Given the description of an element on the screen output the (x, y) to click on. 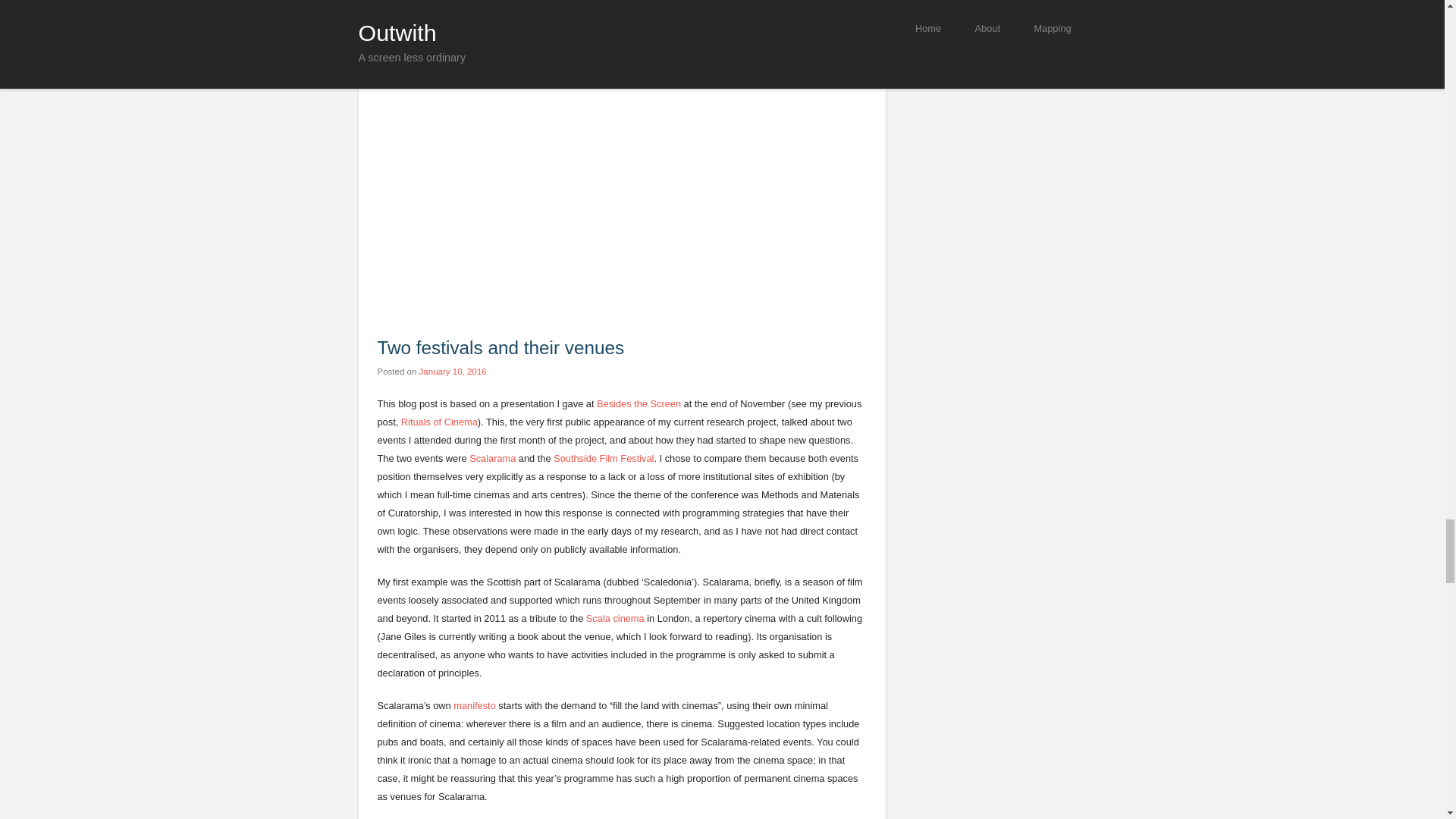
January 10, 2016 (452, 370)
manifesto (473, 705)
11:43 pm (452, 370)
spaces (391, 3)
Scalarama (491, 458)
Rituals of Cinema (439, 421)
Besides the Screen (638, 403)
Leave a comment (446, 3)
Scala cinema (615, 618)
Two festivals and their venues (500, 347)
Southside Film Festival (603, 458)
